Given the description of an element on the screen output the (x, y) to click on. 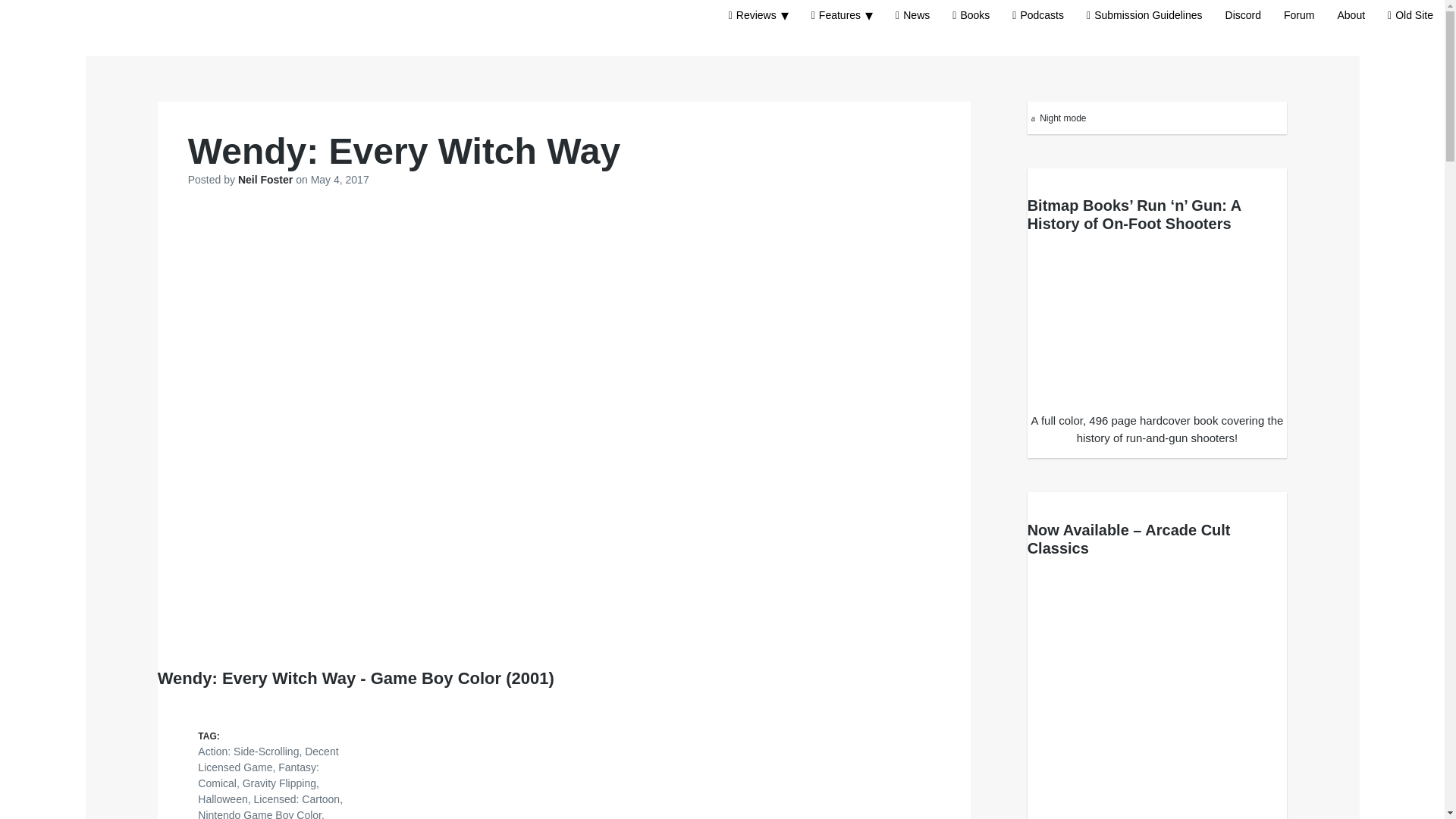
Halloween (222, 799)
Fantasy: Comical (258, 775)
Action: Side-Scrolling (248, 751)
Licensed: Cartoon (296, 799)
Nintendo Game Boy Color (259, 814)
Gravity Flipping (279, 783)
Decent Licensed Game (267, 759)
Neil Foster (266, 179)
